Given the description of an element on the screen output the (x, y) to click on. 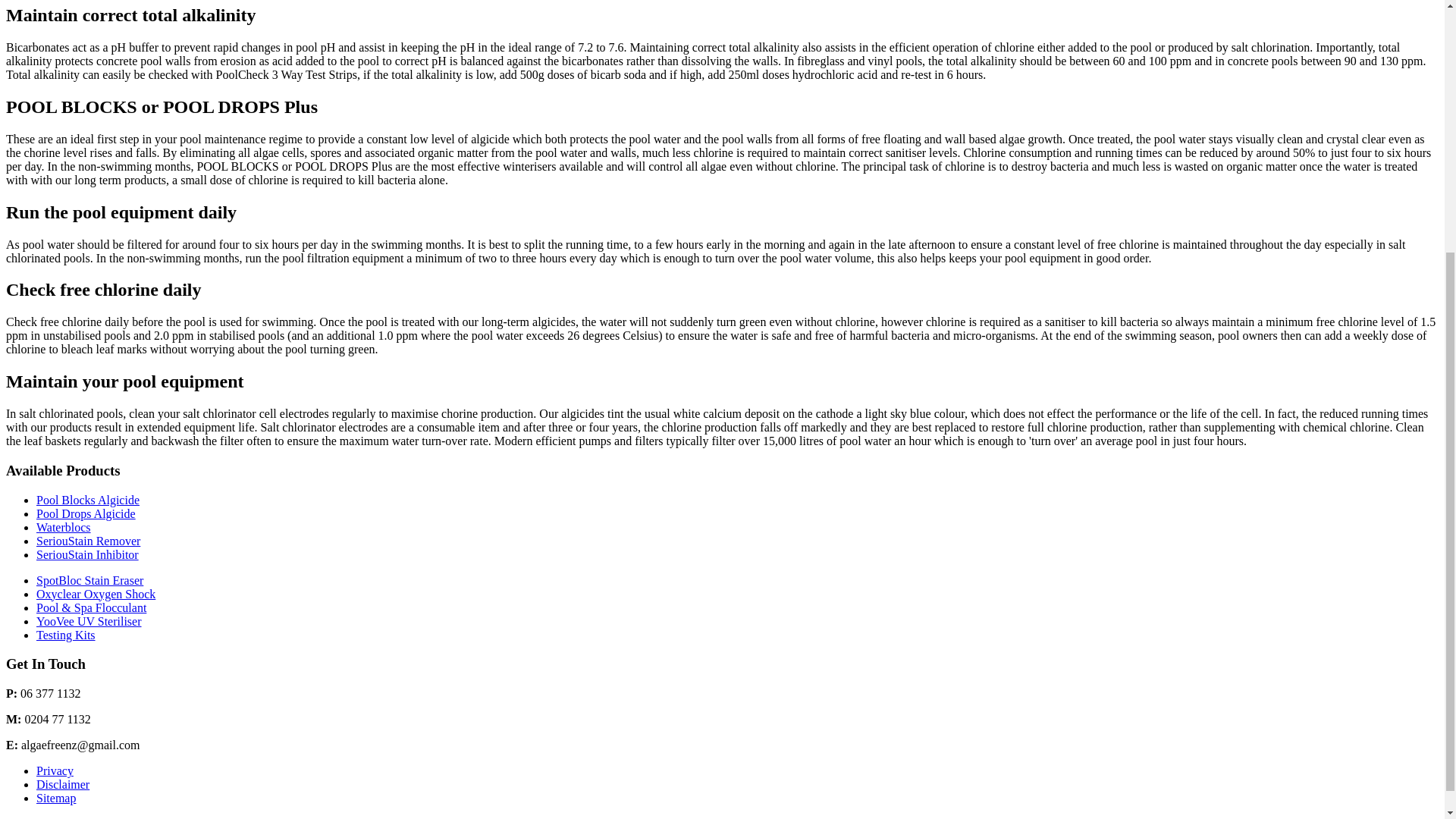
SeriouStain Inhibitor (87, 554)
Disclaimer (62, 784)
Sitemap (55, 797)
YooVee UV Steriliser (88, 621)
Pool Blocks Algicide (87, 499)
Waterblocs (63, 526)
Privacy (55, 770)
Pool Drops Algicide (85, 513)
Oxyclear Oxygen Shock (95, 594)
SpotBloc Stain Eraser (89, 580)
SeriouStain Remover (87, 540)
Testing Kits (66, 634)
